Given the description of an element on the screen output the (x, y) to click on. 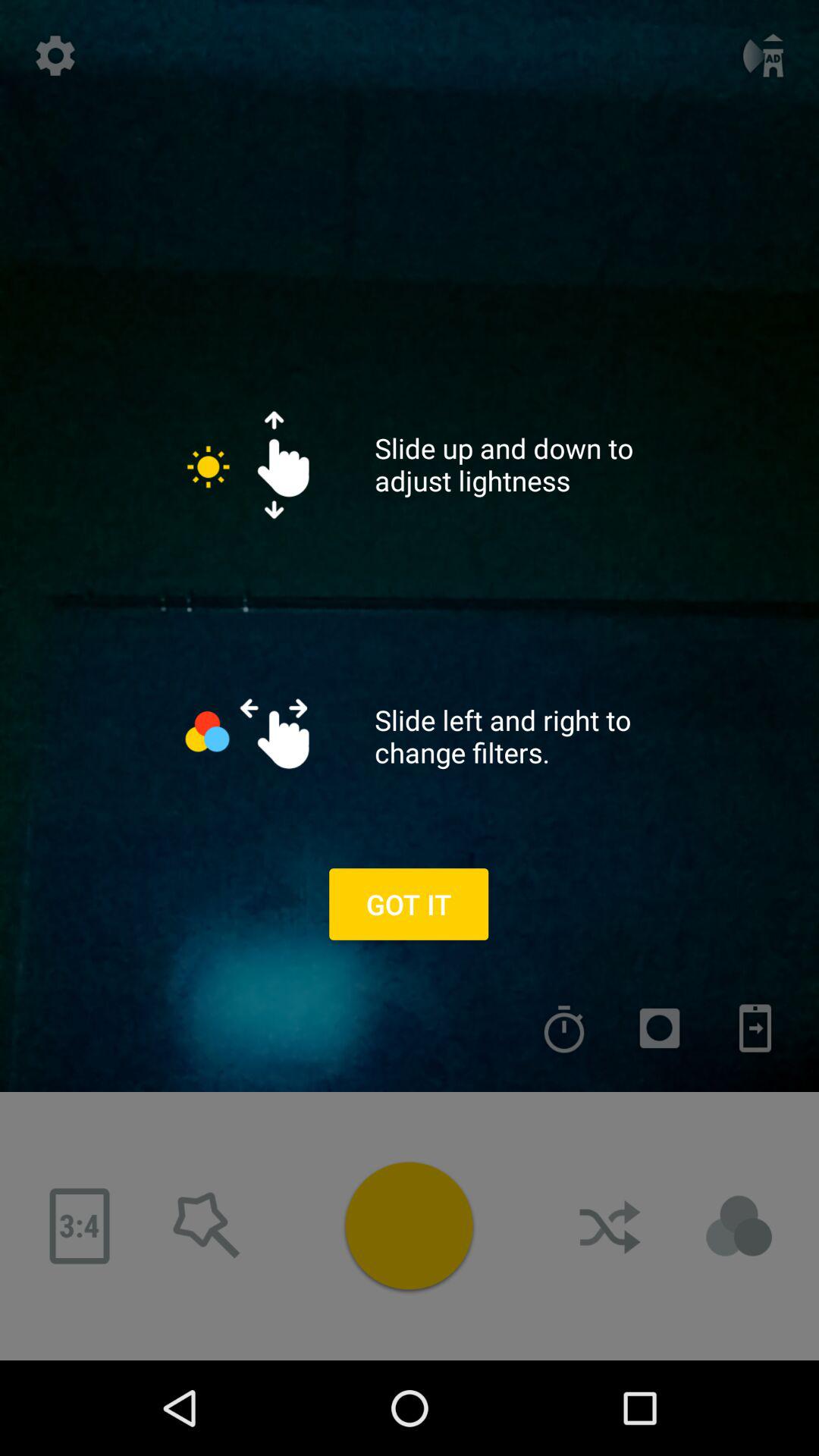
click for filter option (739, 1226)
